Given the description of an element on the screen output the (x, y) to click on. 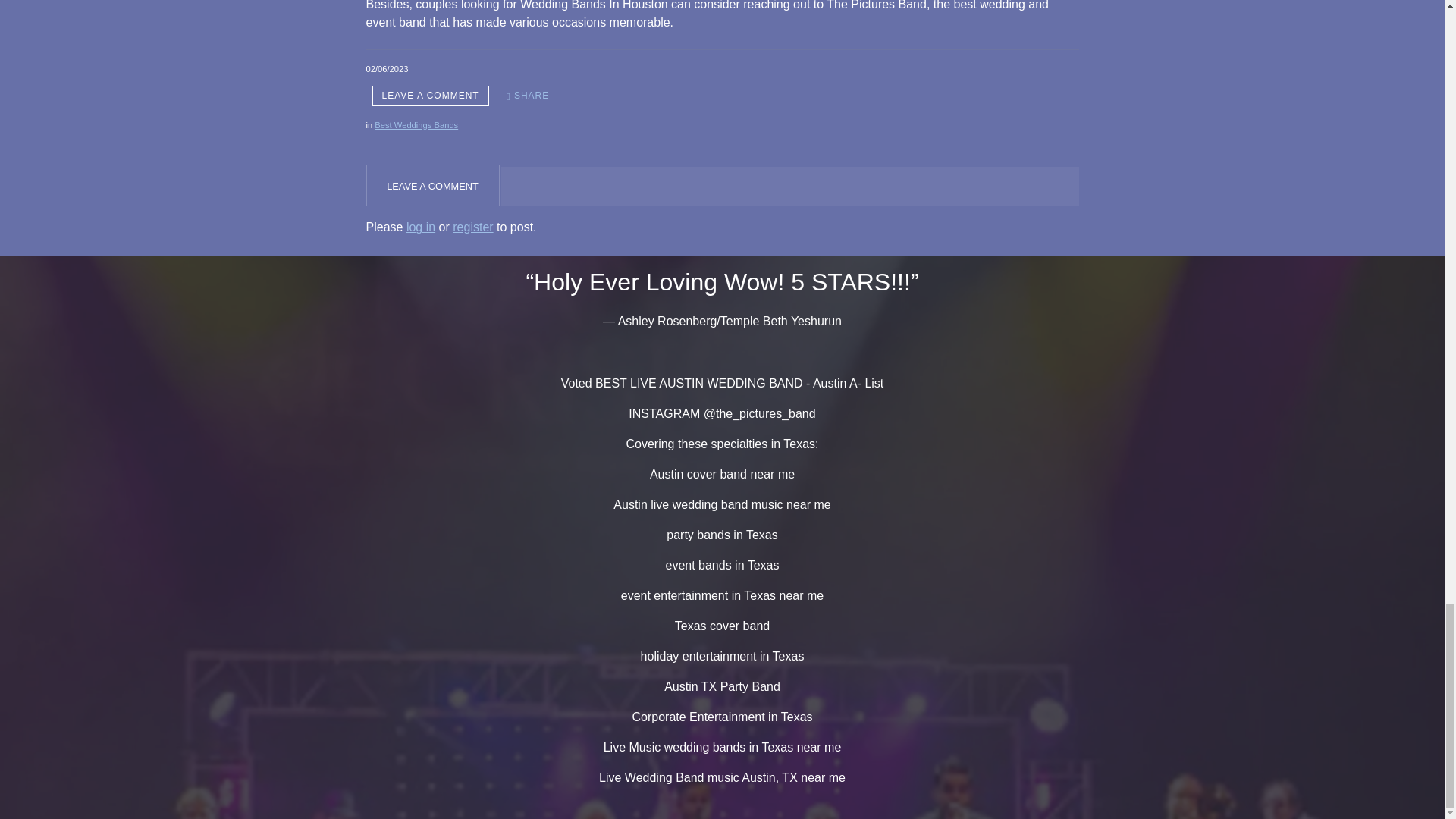
log in (420, 226)
Best Weddings Bands (416, 124)
February 06, 2023 06:07 (386, 68)
register (472, 226)
SHARE (528, 95)
Leave a comment (429, 95)
LEAVE A COMMENT (429, 95)
